Given the description of an element on the screen output the (x, y) to click on. 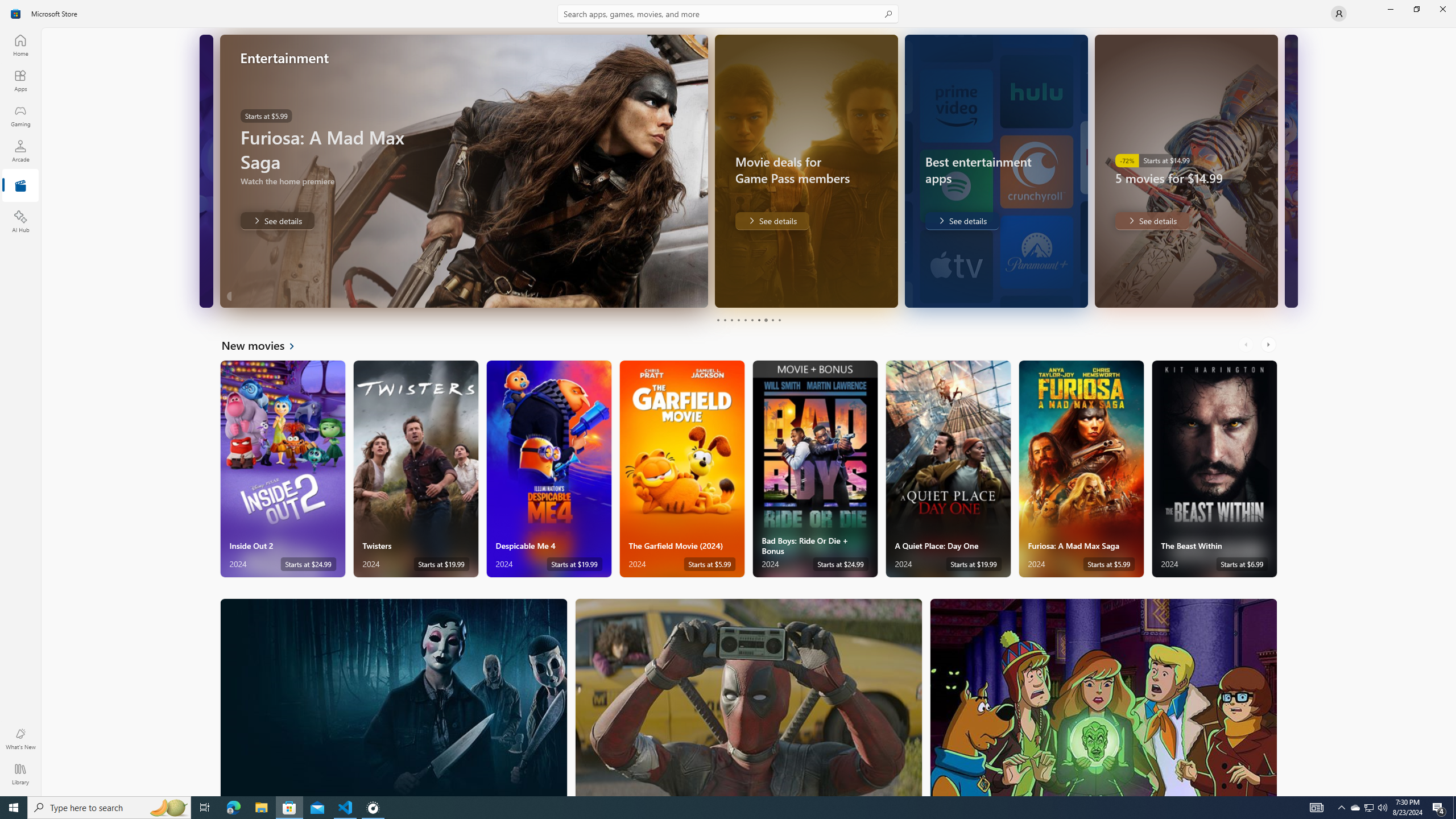
See all  New movies (264, 345)
Gaming (20, 115)
Horror (393, 697)
User profile (1338, 13)
Pager (748, 319)
Page 5 (744, 319)
AI Hub (20, 221)
The Beast Within. Starts at $6.99   (1213, 469)
Page 7 (758, 319)
Minimize Microsoft Store (1390, 9)
AutomationID: RightScrollButton (1269, 344)
